Given the description of an element on the screen output the (x, y) to click on. 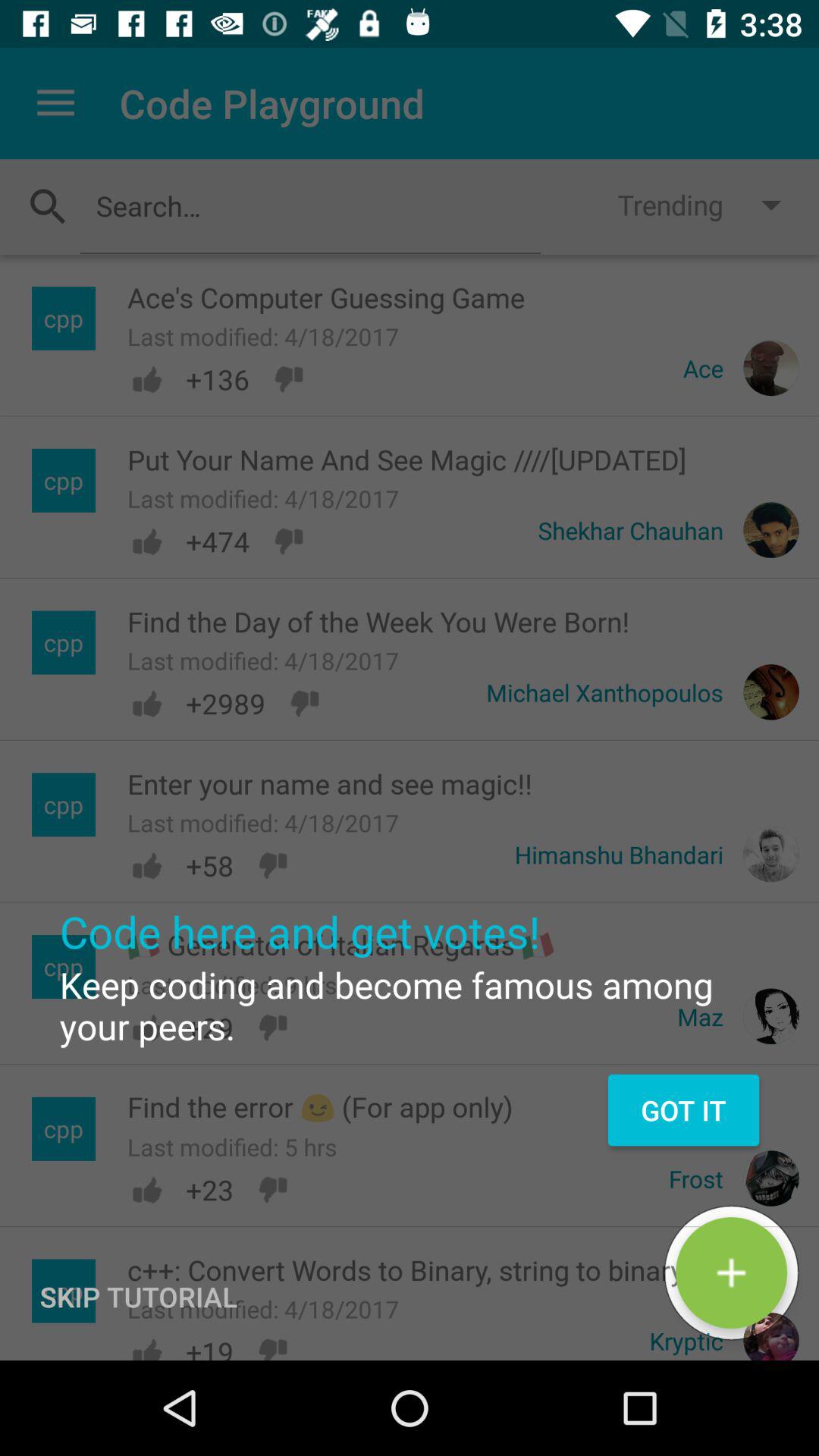
click on the image which is right to the shekhar chauhan (770, 529)
select the dislike option which is left to the michael xanthopoulos (304, 703)
click on the green  button (731, 1273)
click on thumbs down button next to 474 (288, 541)
